Given the description of an element on the screen output the (x, y) to click on. 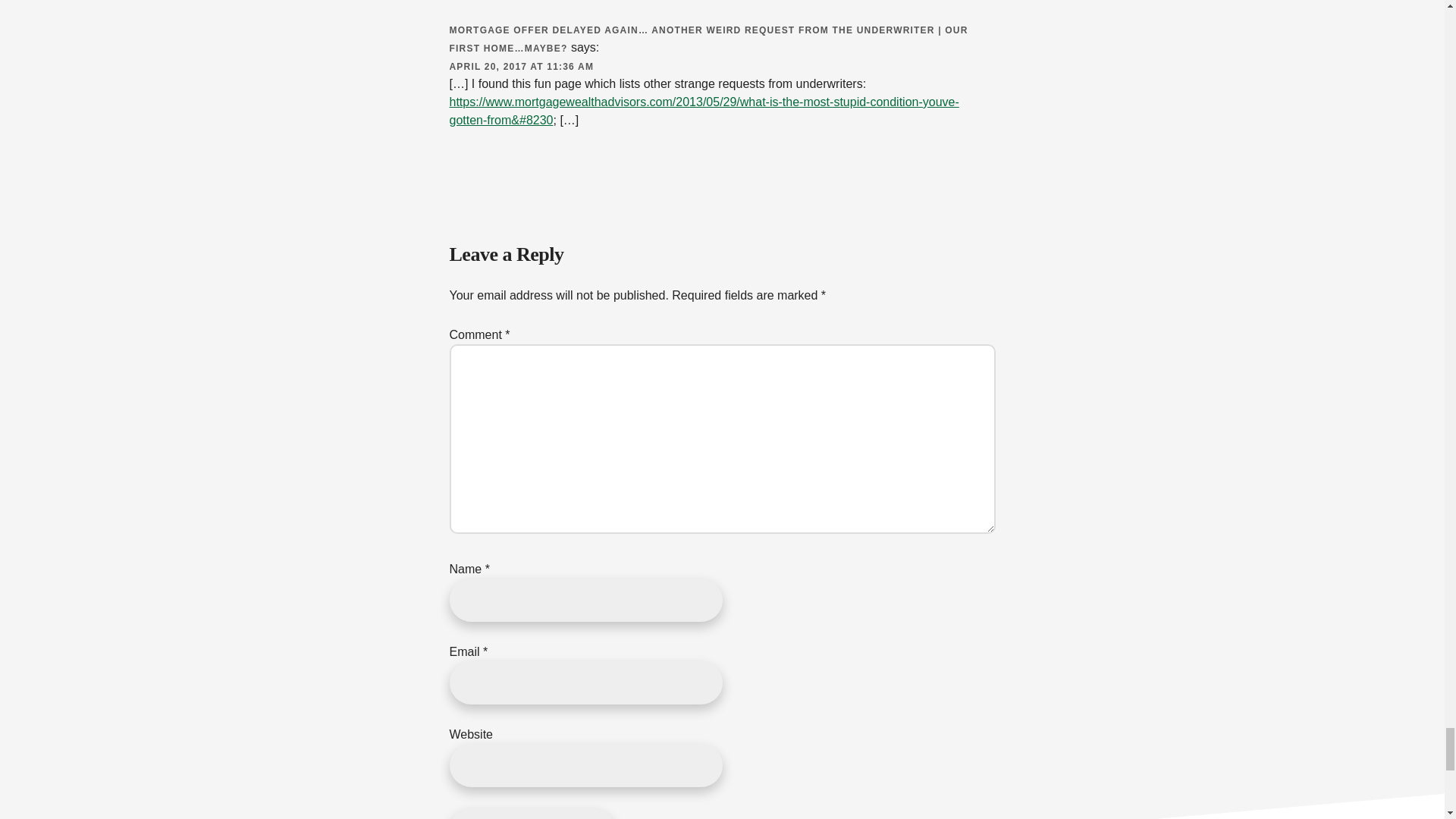
Post Comment (531, 813)
